Given the description of an element on the screen output the (x, y) to click on. 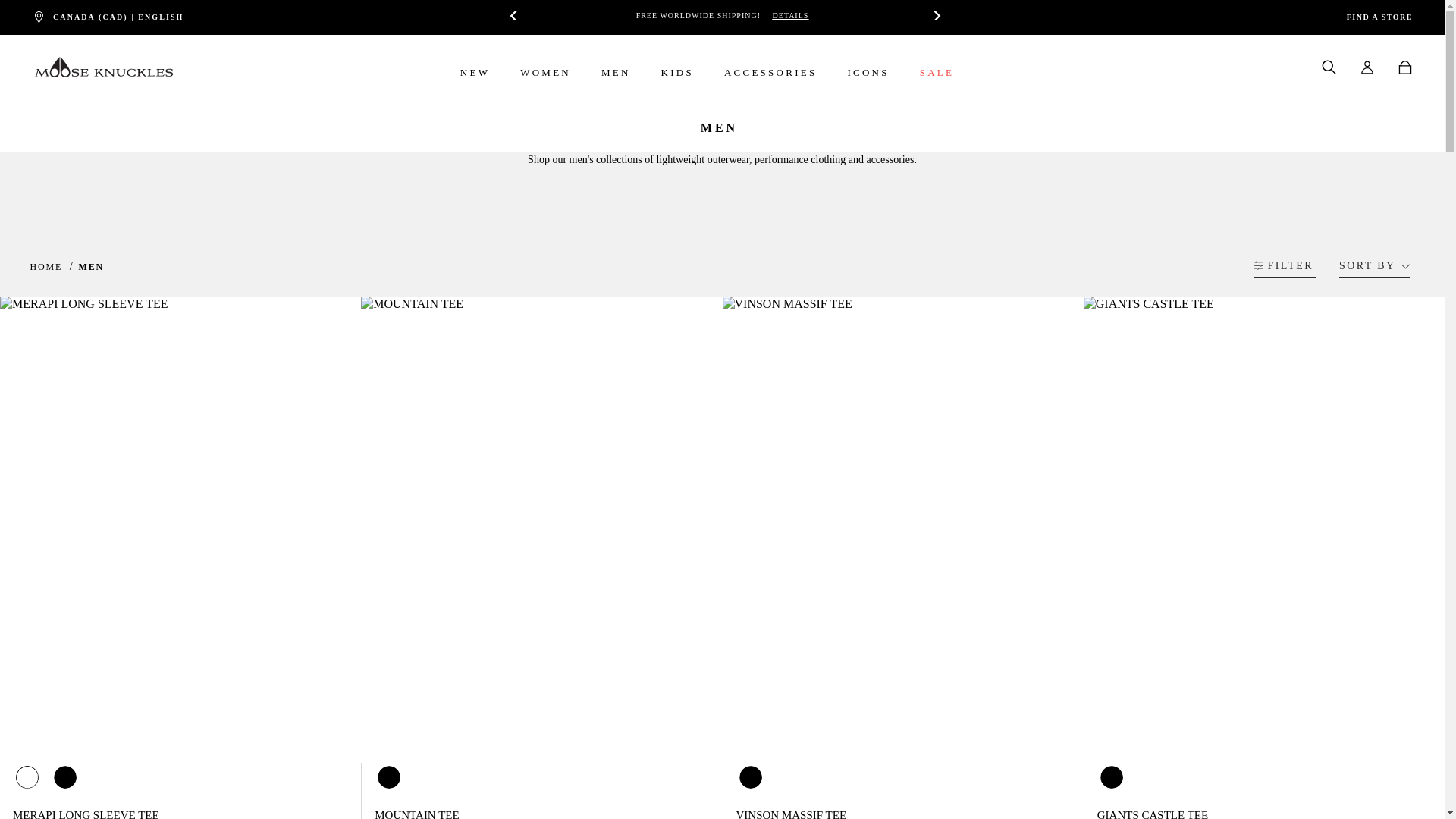
GIANTS CASTLE TEE (1152, 814)
White (27, 776)
NEW (474, 81)
VINSON MASSIF TEE (790, 814)
DETAILS (789, 15)
NEXT (932, 15)
FIND A STORE (1379, 17)
MERAPI LONG SLEEVE TEE (85, 814)
Black (749, 776)
Black (1111, 776)
